Given the description of an element on the screen output the (x, y) to click on. 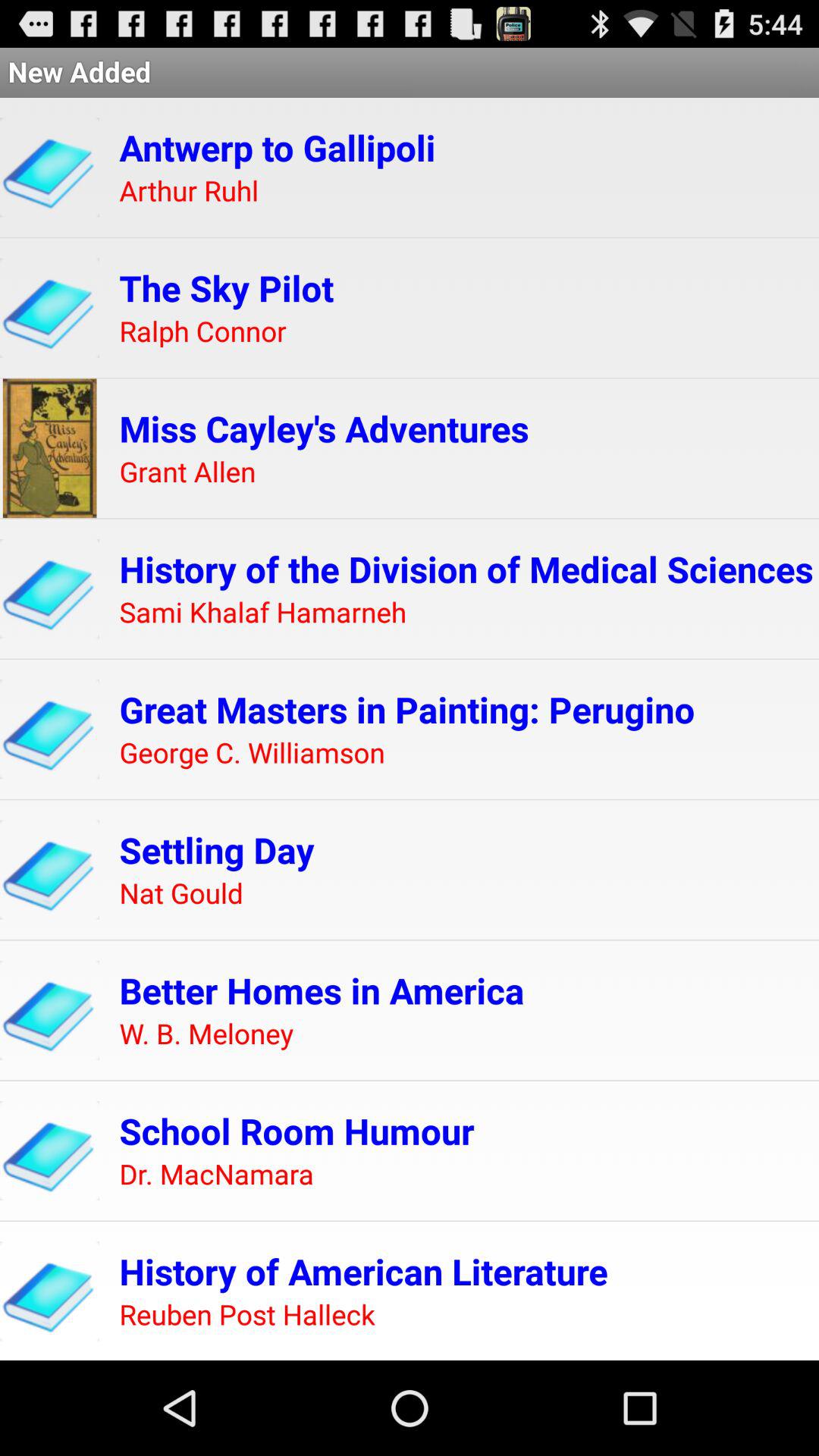
jump to the better homes in item (321, 990)
